Given the description of an element on the screen output the (x, y) to click on. 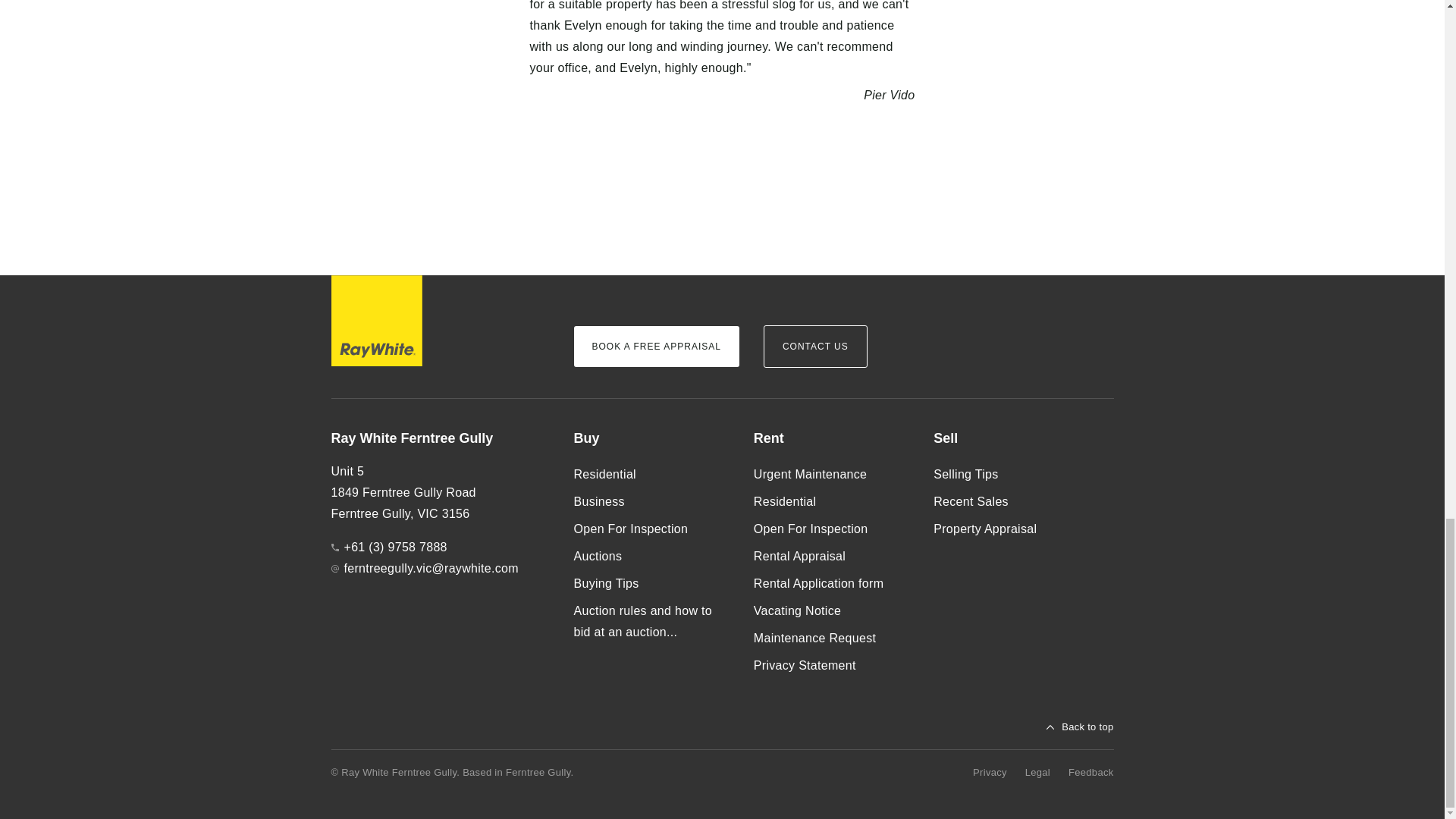
Open For Inspection (651, 528)
Ray White (376, 320)
Auctions (651, 556)
Sell (1011, 438)
Urgent Maintenance (831, 474)
Maintenance Request (831, 637)
Privacy Statement (831, 665)
CONTACT US (814, 346)
Selling Tips (1011, 474)
Auction rules and how to bid at an auction... (651, 621)
Open For Inspection (831, 528)
Residential (831, 501)
Legal (1037, 772)
Residential (651, 474)
Rental Application form (831, 583)
